Given the description of an element on the screen output the (x, y) to click on. 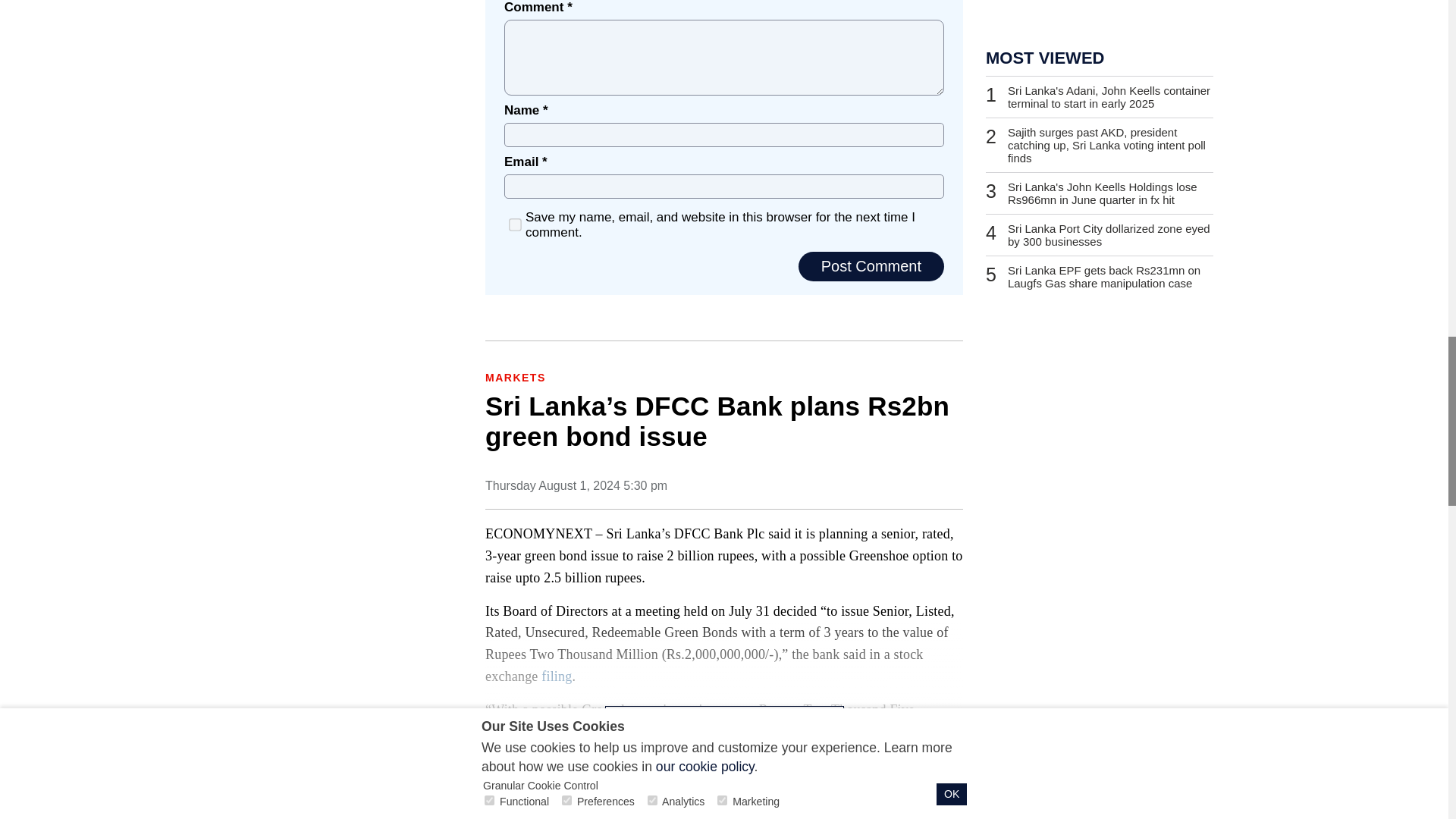
Post Comment (870, 266)
